Given the description of an element on the screen output the (x, y) to click on. 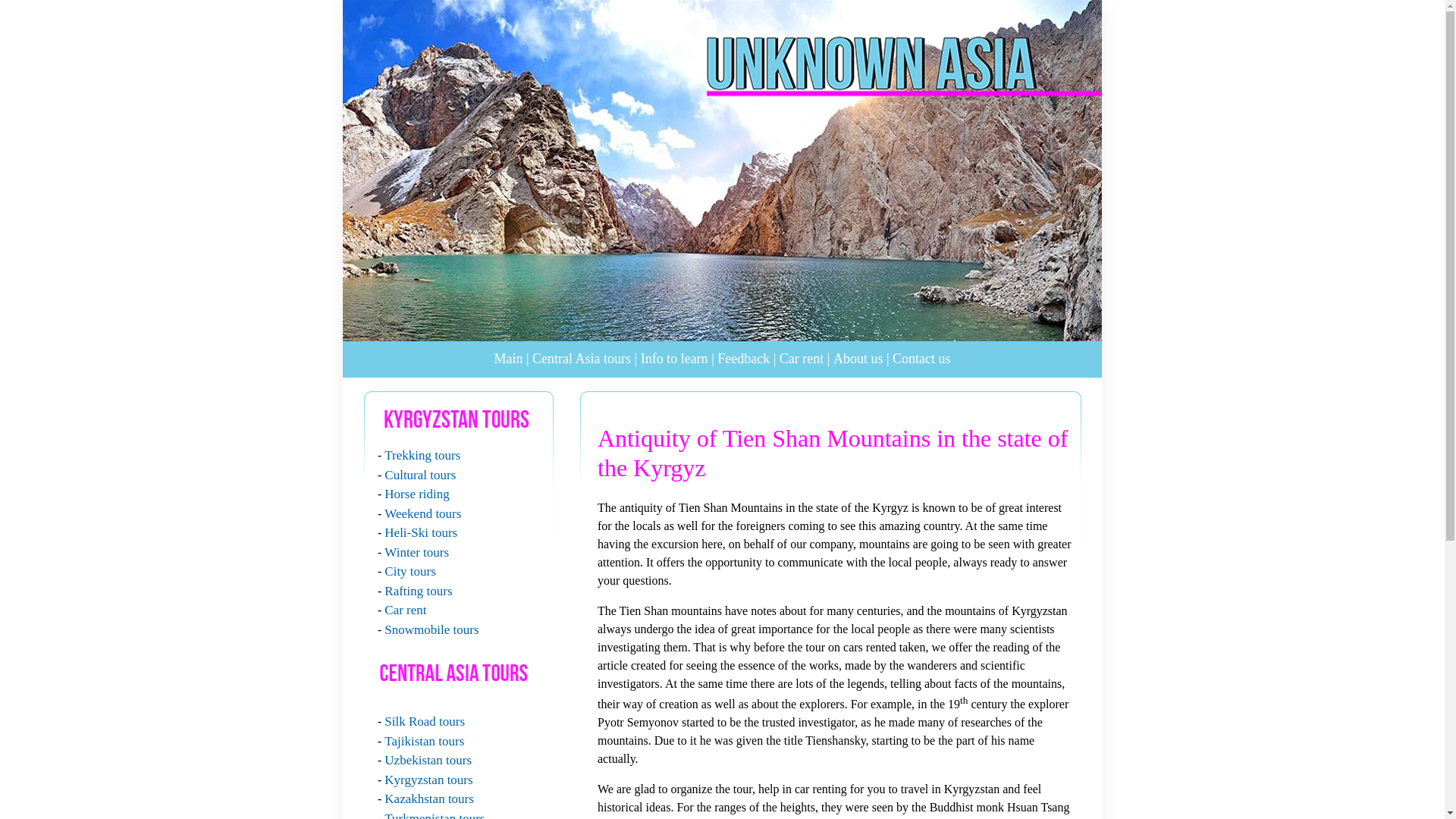
Snowmobile tours (431, 628)
Heli-Ski tours (420, 532)
Tajikistan tours (424, 740)
Rafting tours (417, 590)
Feedback (743, 358)
Silk Road tours (424, 721)
City tours (409, 571)
Cultural tours (419, 473)
Kyrgyzstan tours (427, 779)
Central Asia tours (581, 358)
Kazakhstan tours (429, 798)
Uzbekistan tours (427, 759)
Main (507, 358)
Car rent (405, 609)
Winter tours (416, 551)
